Given the description of an element on the screen output the (x, y) to click on. 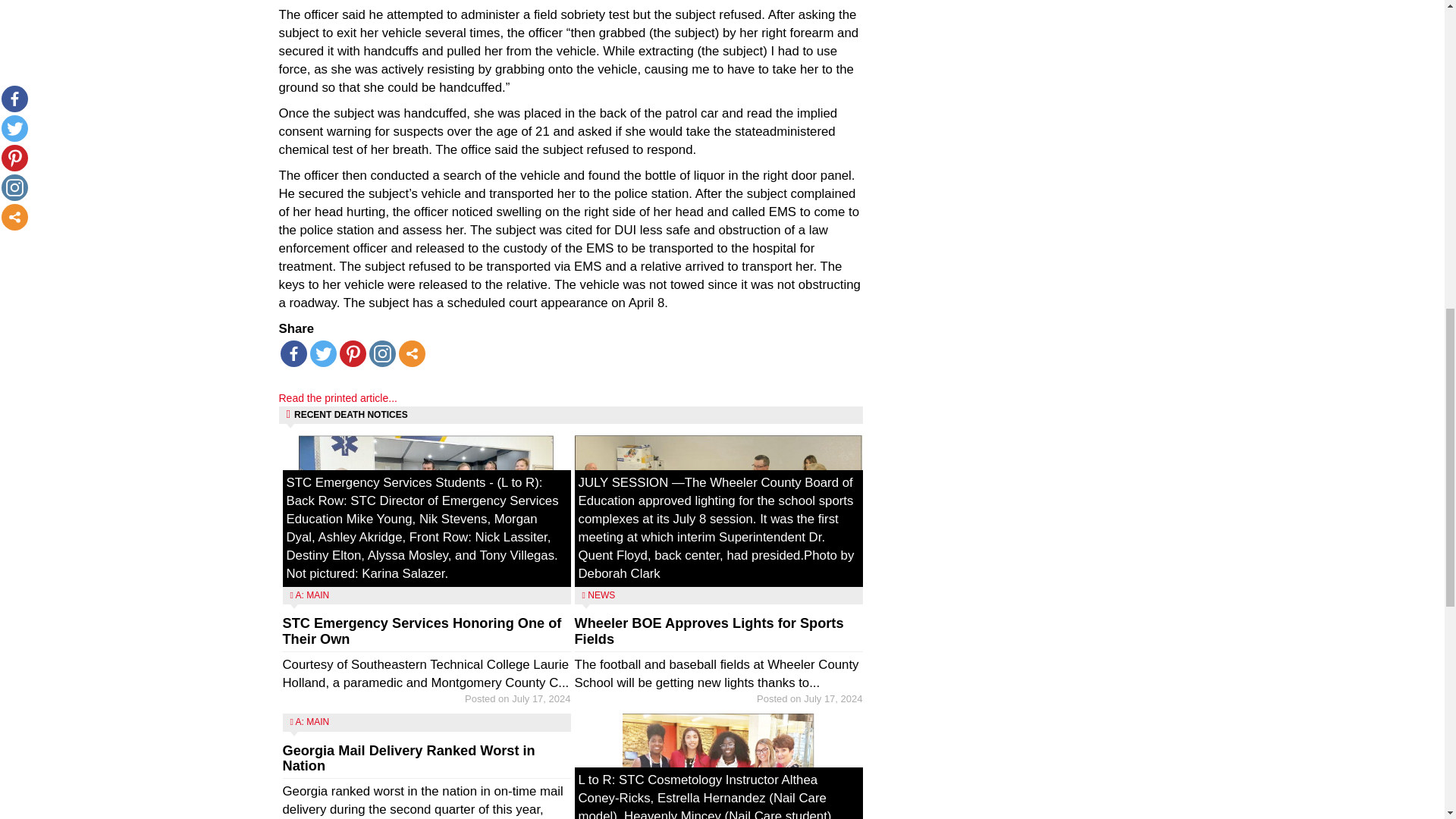
Pinterest (352, 353)
A: MAIN (312, 721)
Read the printed article... (338, 398)
More (411, 353)
STC Emergency Services Honoring One of Their Own (421, 631)
Instagram (381, 353)
A: MAIN (312, 594)
Twitter (322, 353)
Facebook (294, 353)
Georgia Mail Delivery Ranked Worst in Nation (408, 757)
